Given the description of an element on the screen output the (x, y) to click on. 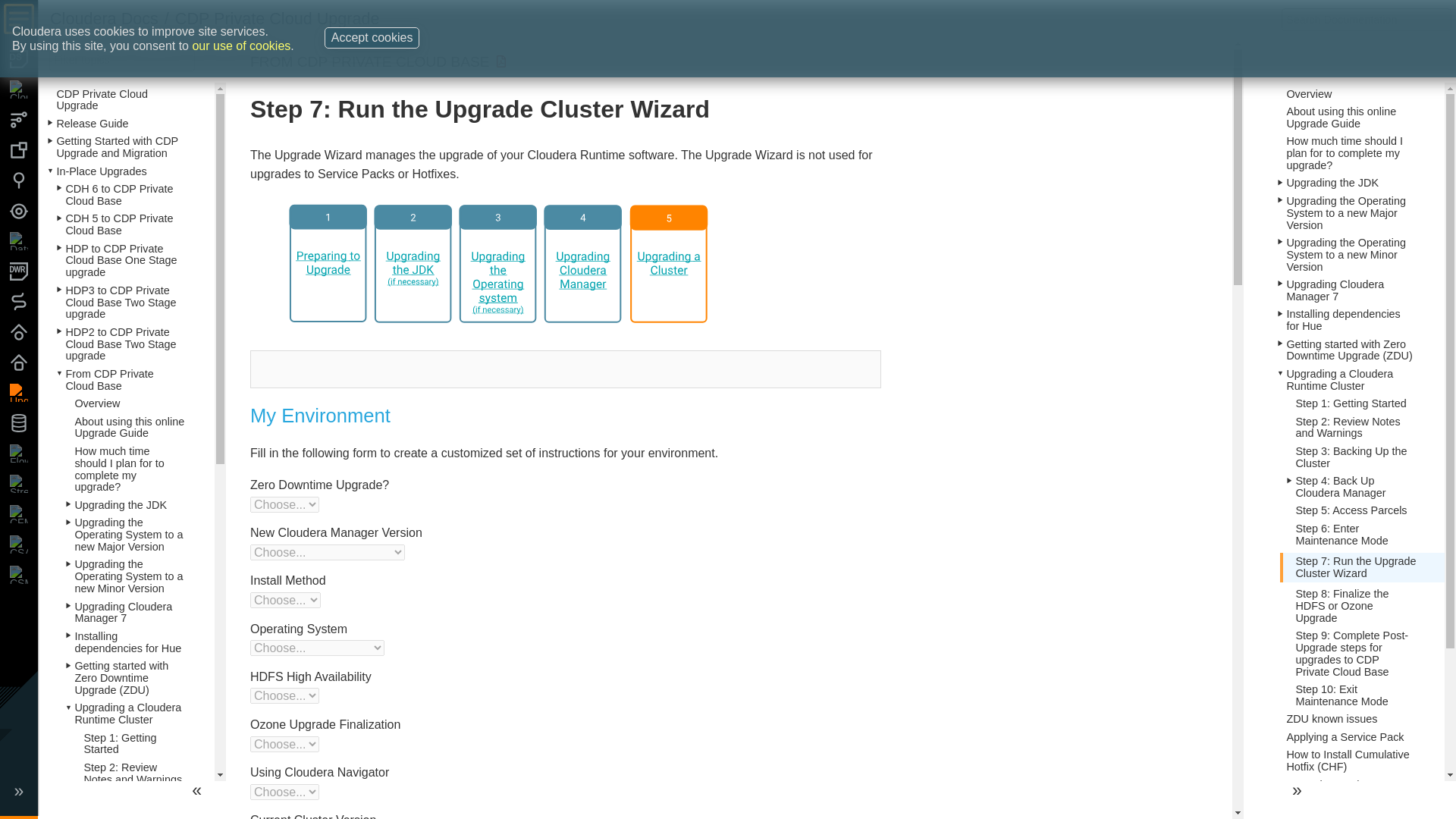
Cloudera Docs (103, 18)
CDP Private Cloud Upgrade (277, 18)
